Given the description of an element on the screen output the (x, y) to click on. 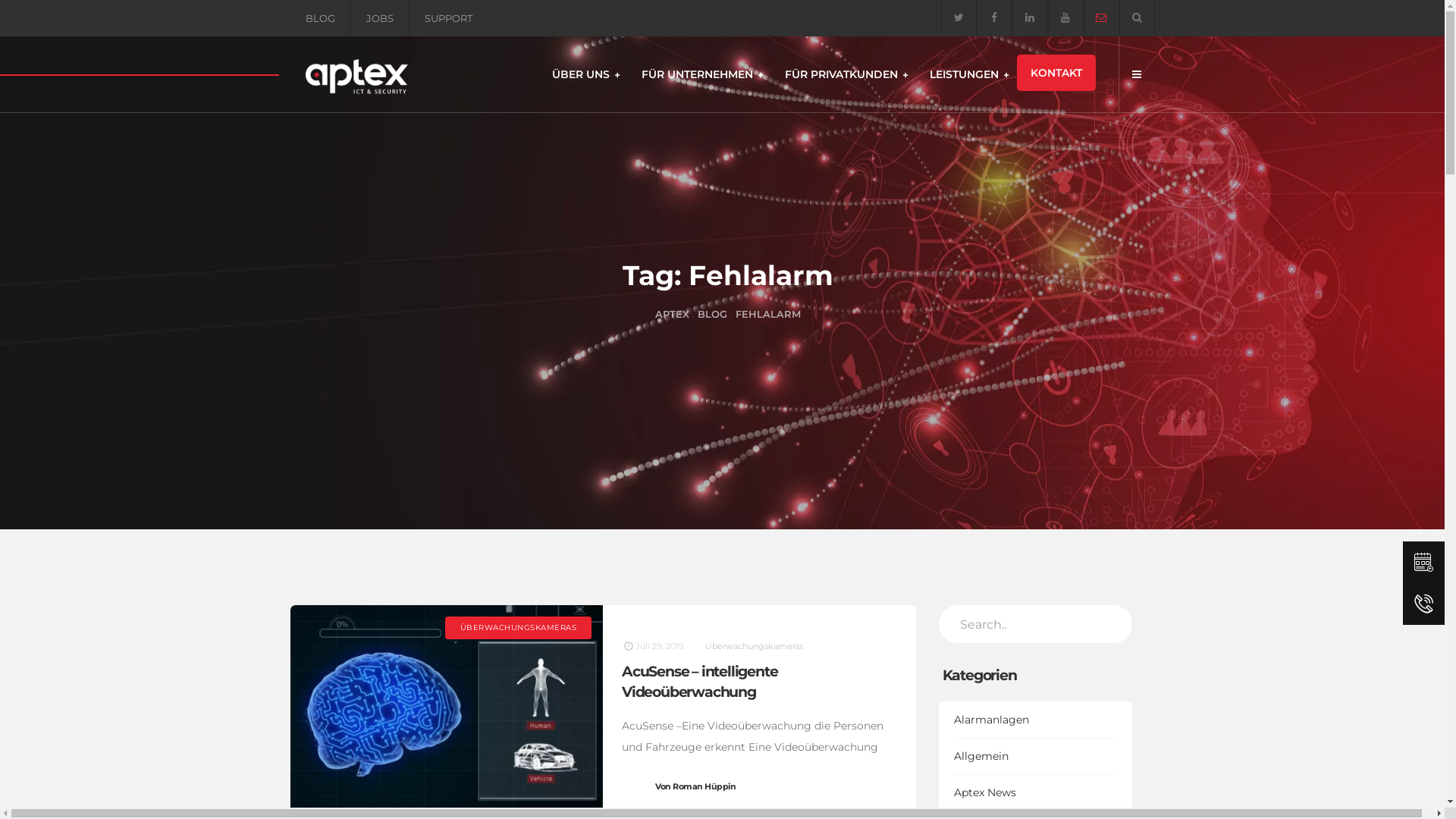
KONTAKT Element type: text (1055, 72)
Email Element type: hover (1100, 17)
JOBS Element type: text (379, 18)
SUPPORT Element type: text (448, 18)
linkedin Element type: hover (1029, 17)
BLOG Element type: text (319, 18)
Search Element type: hover (1136, 17)
<i class="fa fa-bars" aria-hidden="true"></i> Element type: hover (1135, 74)
BLOG Element type: text (712, 313)
twitter Element type: hover (957, 17)
facebook Element type: hover (994, 17)
APTEX Element type: text (672, 313)
Allgemein Element type: text (1035, 756)
youtube Element type: hover (1065, 17)
Alarmanlagen Element type: text (1035, 719)
LEISTUNGEN Element type: text (966, 74)
Aptex News Element type: text (1035, 792)
